Given the description of an element on the screen output the (x, y) to click on. 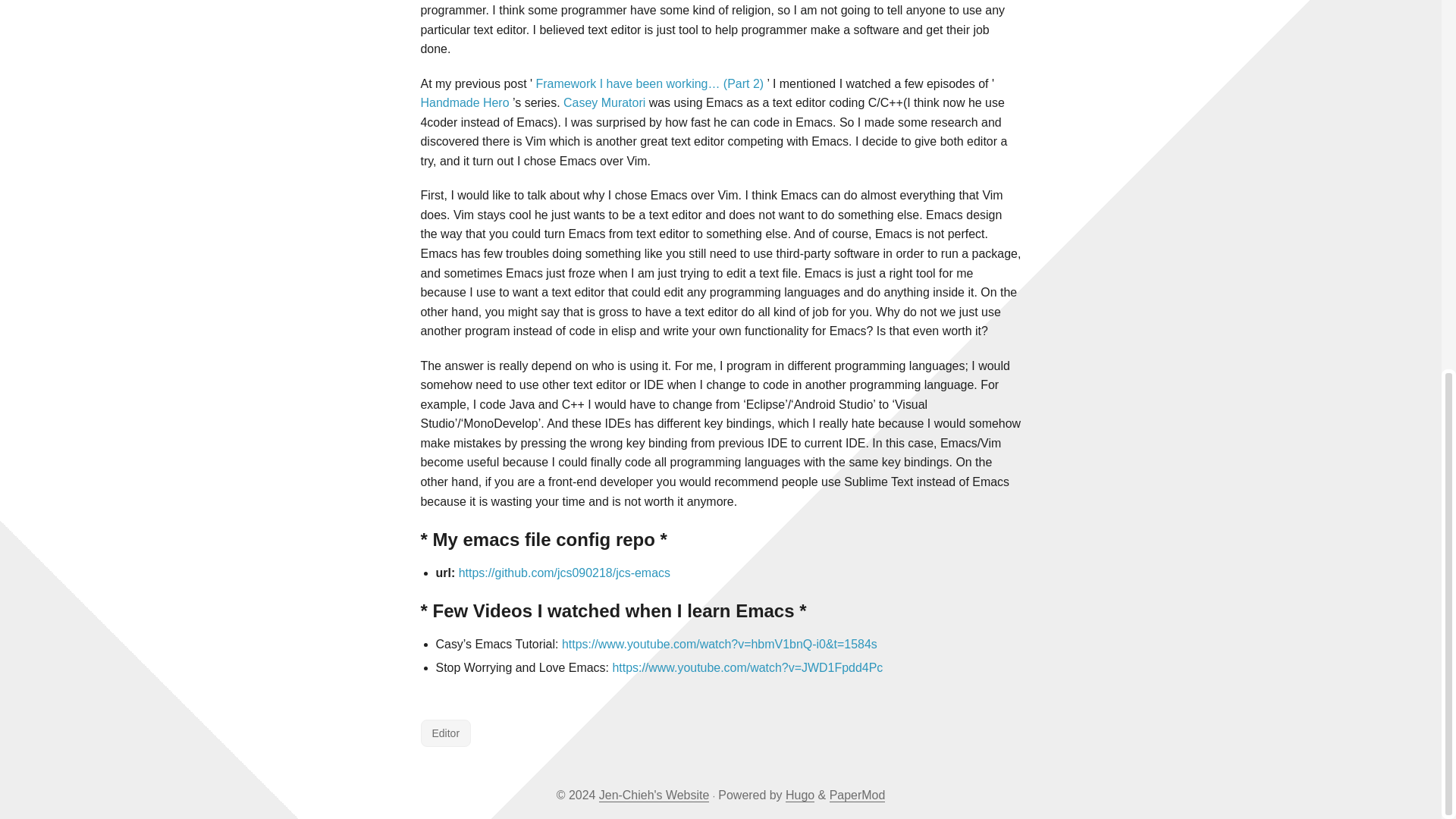
Casey Muratori (604, 102)
Editor (445, 732)
Hugo (799, 795)
Handmade Hero (464, 102)
PaperMod (857, 795)
Jen-Chieh's Website (654, 795)
